Given the description of an element on the screen output the (x, y) to click on. 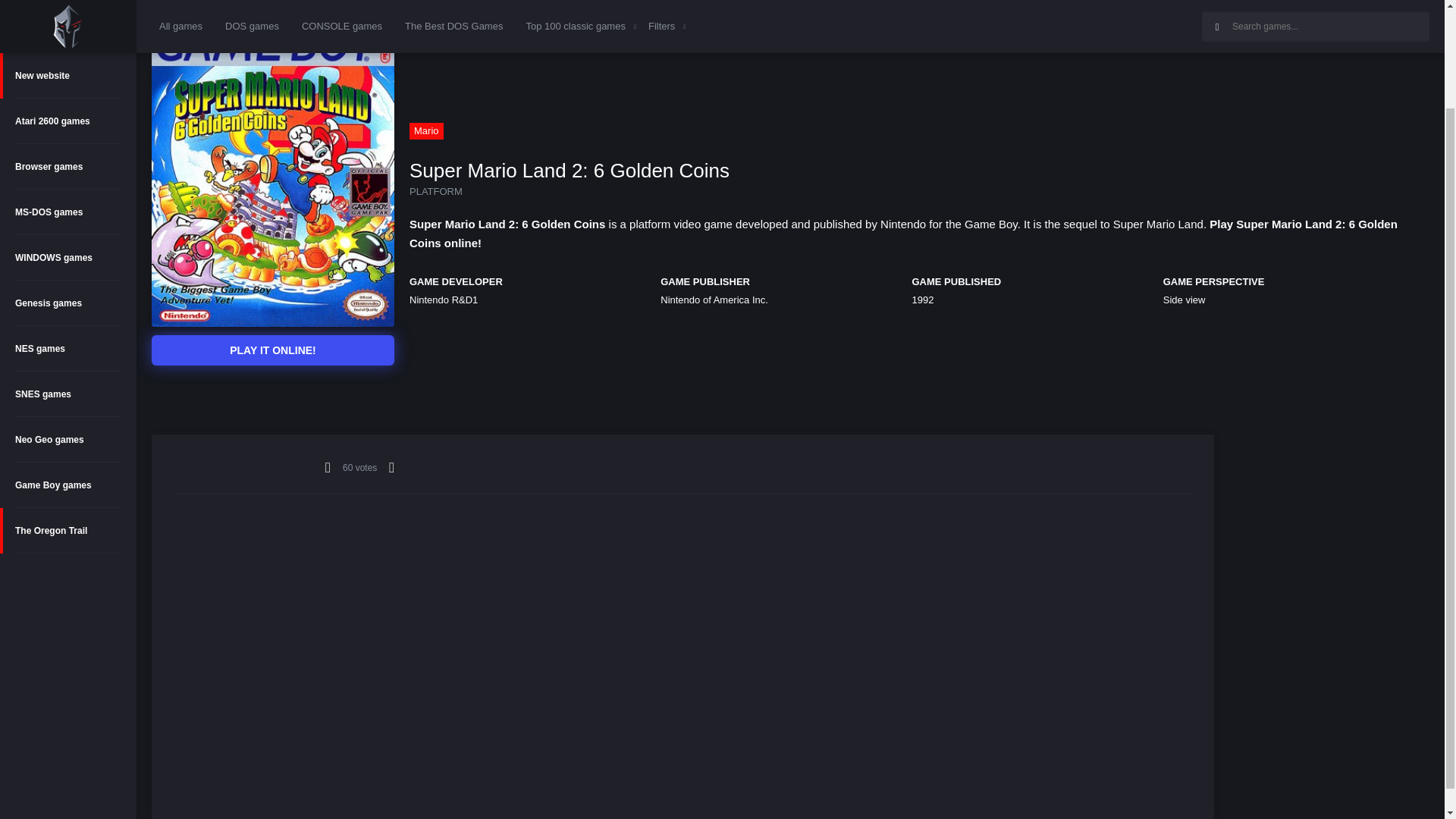
Atari 2600 games (68, 13)
Play Super Mario Land 2: 6 Golden Coins online (272, 349)
